Given the description of an element on the screen output the (x, y) to click on. 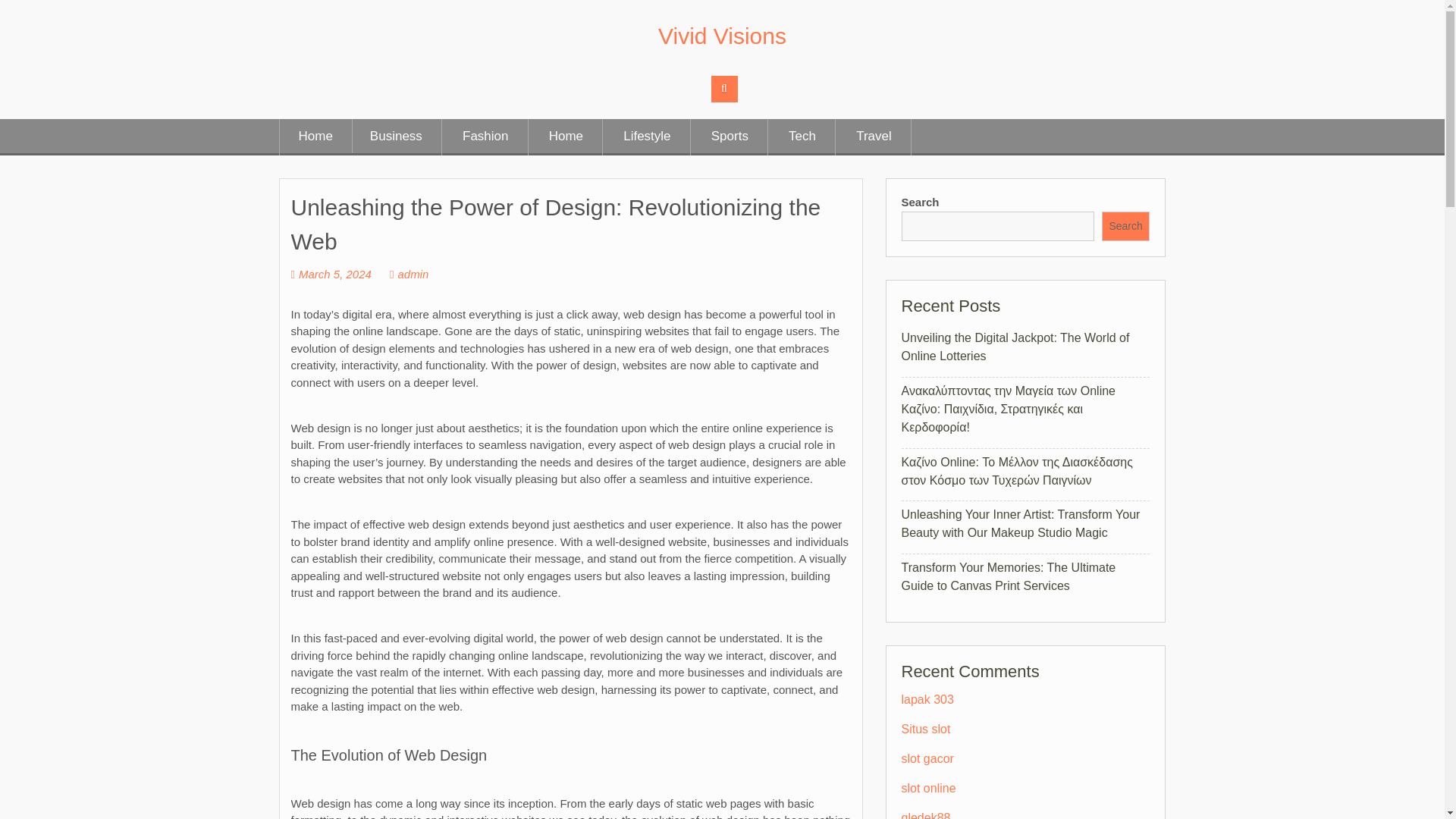
Business (395, 136)
Tech (802, 136)
Search (1126, 225)
Situs slot (925, 728)
lapak 303 (927, 698)
Fashion (485, 136)
Home (314, 136)
slot online (928, 788)
slot gacor (927, 758)
